Given the description of an element on the screen output the (x, y) to click on. 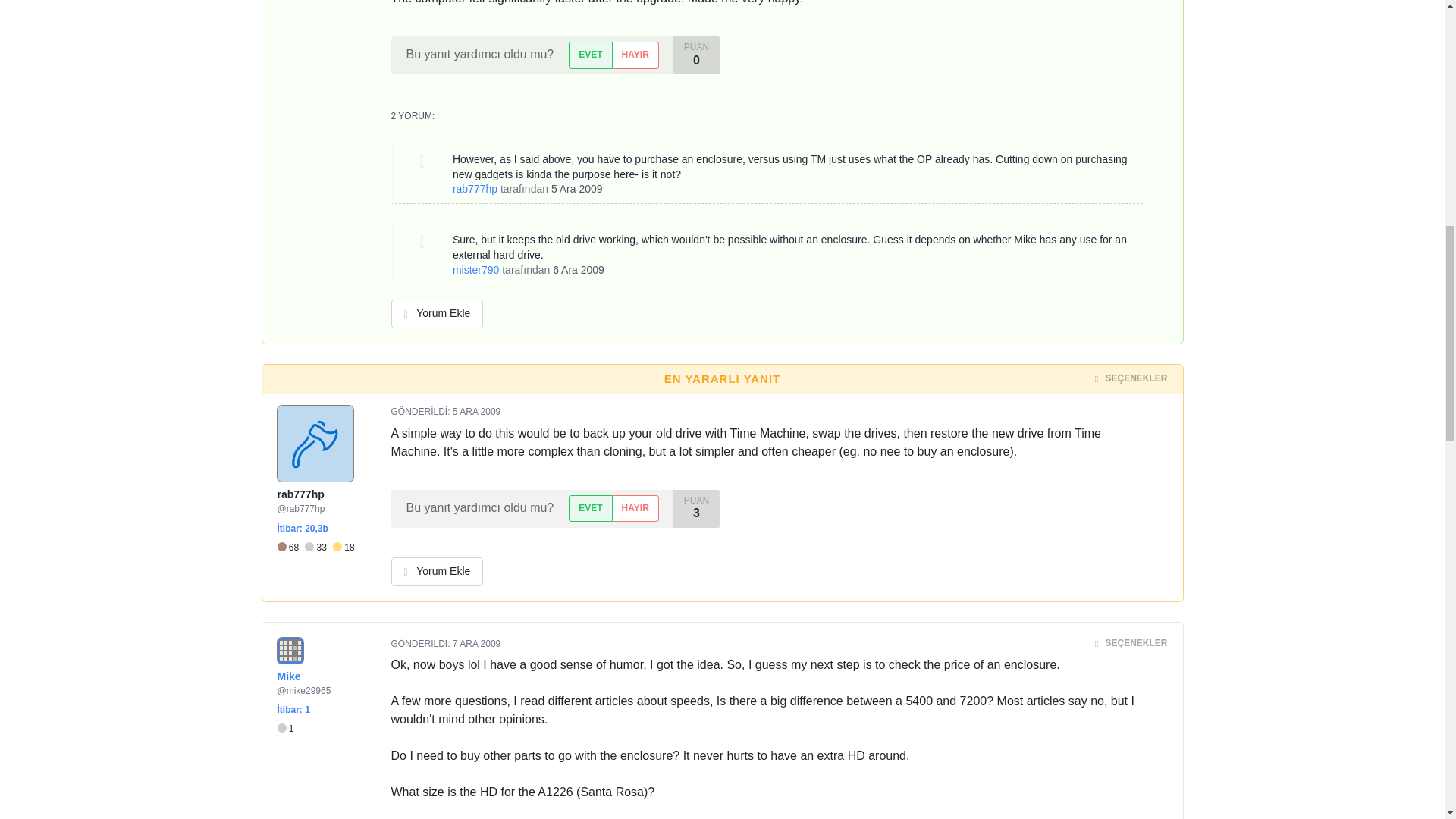
68 Bronz rozeti (291, 547)
Sat, 05 Dec 2009 20:00:35 -0700 (476, 411)
Mon, 07 Dec 2009 04:05:55 -0700 (476, 643)
Sun, 06 Dec 2009 01:06:14 -0700 (578, 269)
Sat, 05 Dec 2009 22:45:38 -0700 (576, 188)
